Given the description of an element on the screen output the (x, y) to click on. 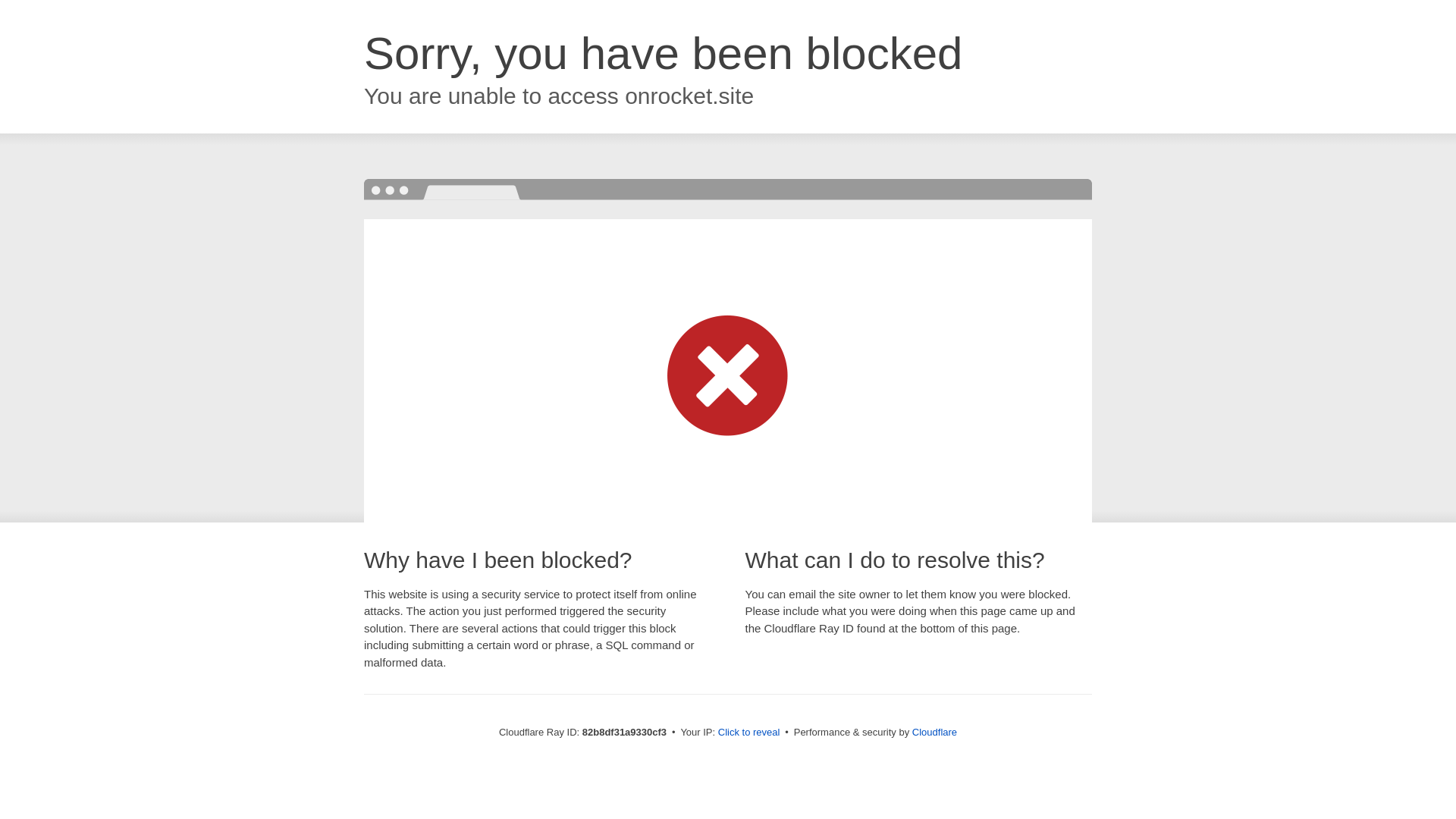
Cloudflare Element type: text (934, 731)
Click to reveal Element type: text (749, 732)
